Given the description of an element on the screen output the (x, y) to click on. 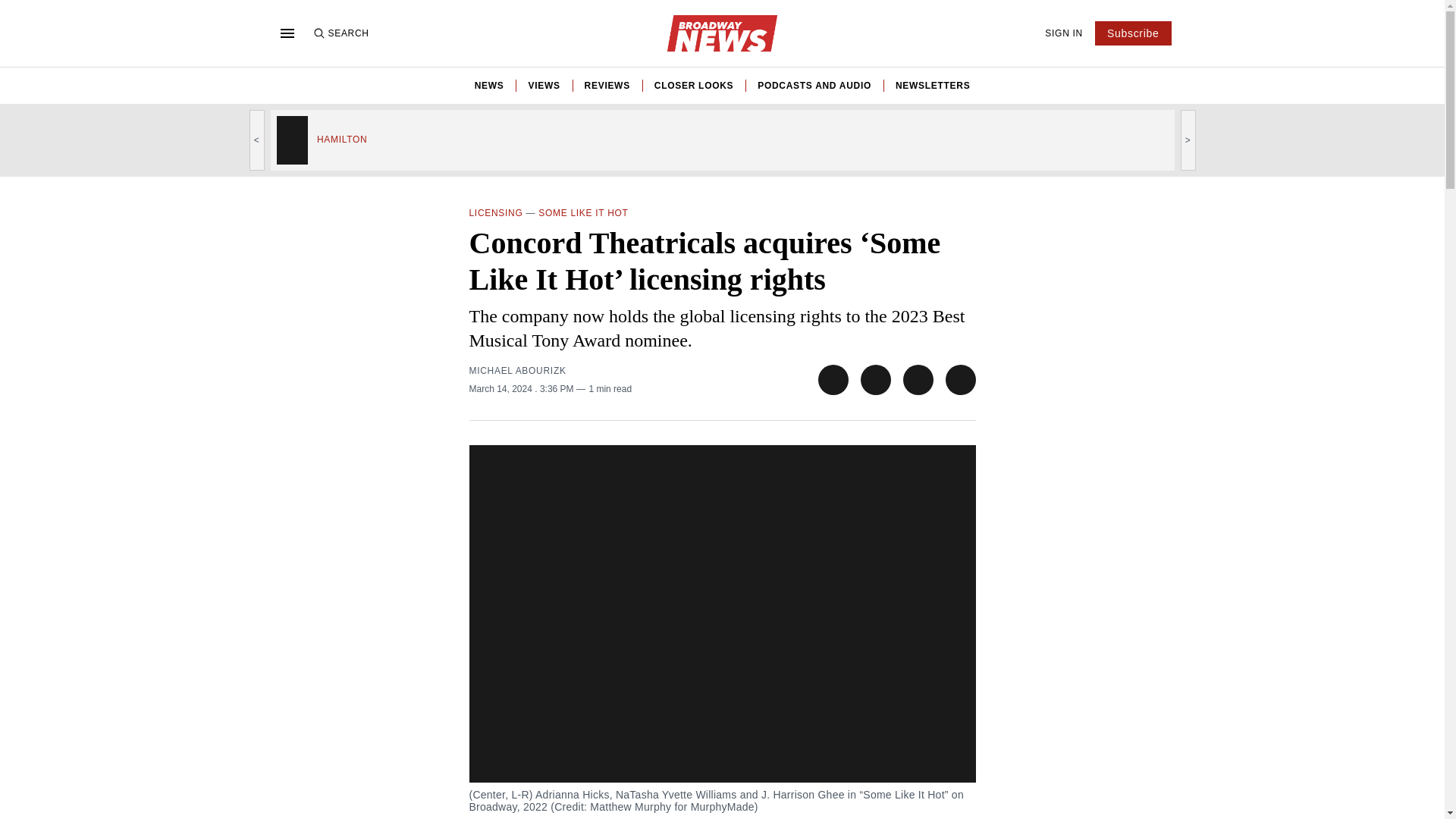
CLOSER LOOKS (693, 85)
VIEWS (543, 85)
NEWS (488, 85)
REVIEWS (607, 85)
SEARCH (340, 33)
PODCASTS AND AUDIO (813, 85)
NEWSLETTERS (932, 85)
Subscribe (1133, 33)
SIGN IN (1064, 33)
